Given the description of an element on the screen output the (x, y) to click on. 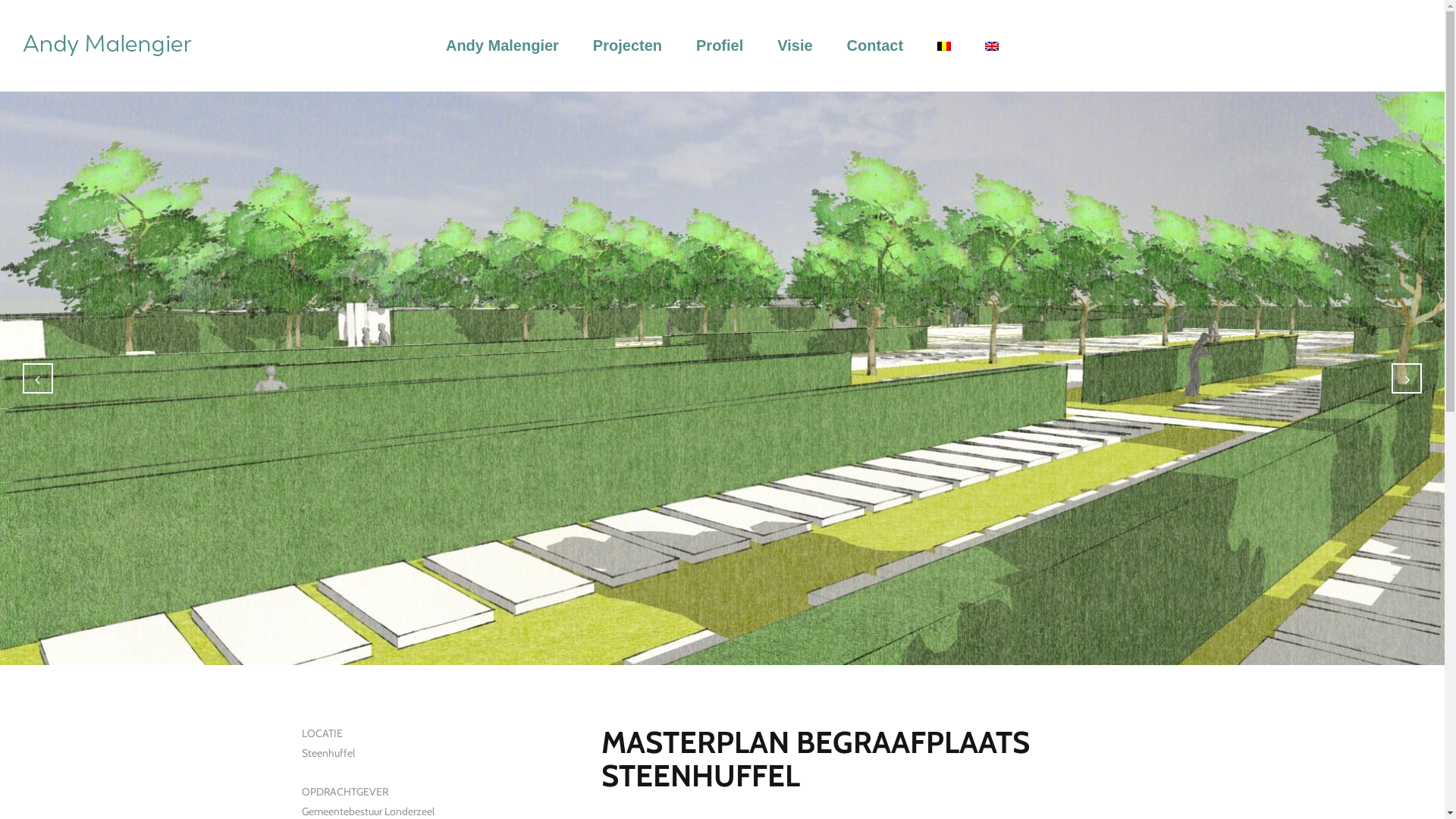
Andy Malengier Element type: text (502, 45)
Projecten Element type: text (627, 45)
Visie Element type: text (794, 45)
Profiel Element type: text (719, 45)
Contact Element type: text (874, 45)
